Given the description of an element on the screen output the (x, y) to click on. 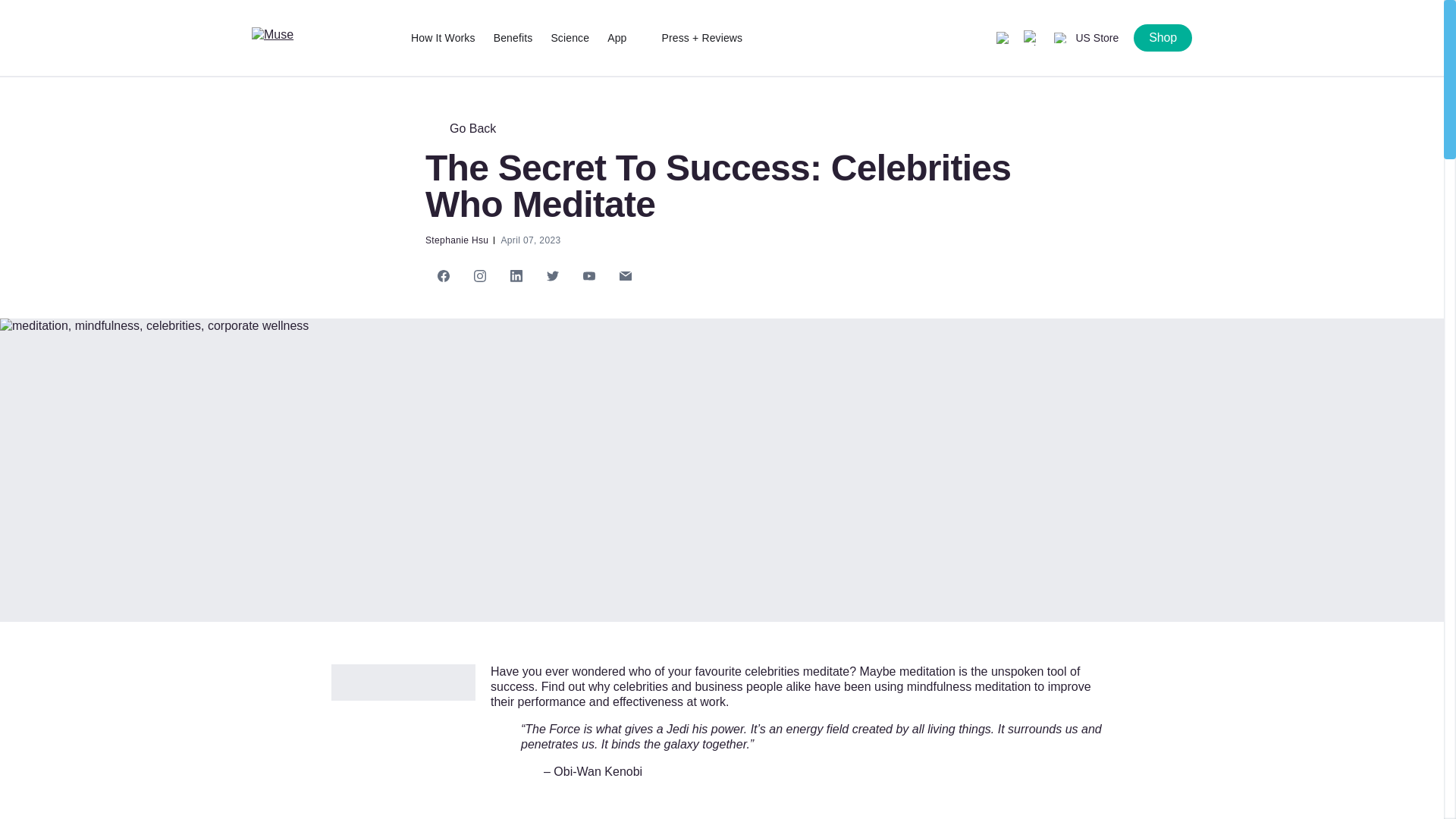
Science (569, 38)
Science (569, 38)
Benefits (512, 38)
Email to a friend (625, 275)
Share on Twitter (552, 275)
Visit the home page (323, 37)
view cart (1031, 37)
Share on Facebook (443, 275)
Share on Instagram (479, 275)
Visit us on YouTube (588, 275)
